Given the description of an element on the screen output the (x, y) to click on. 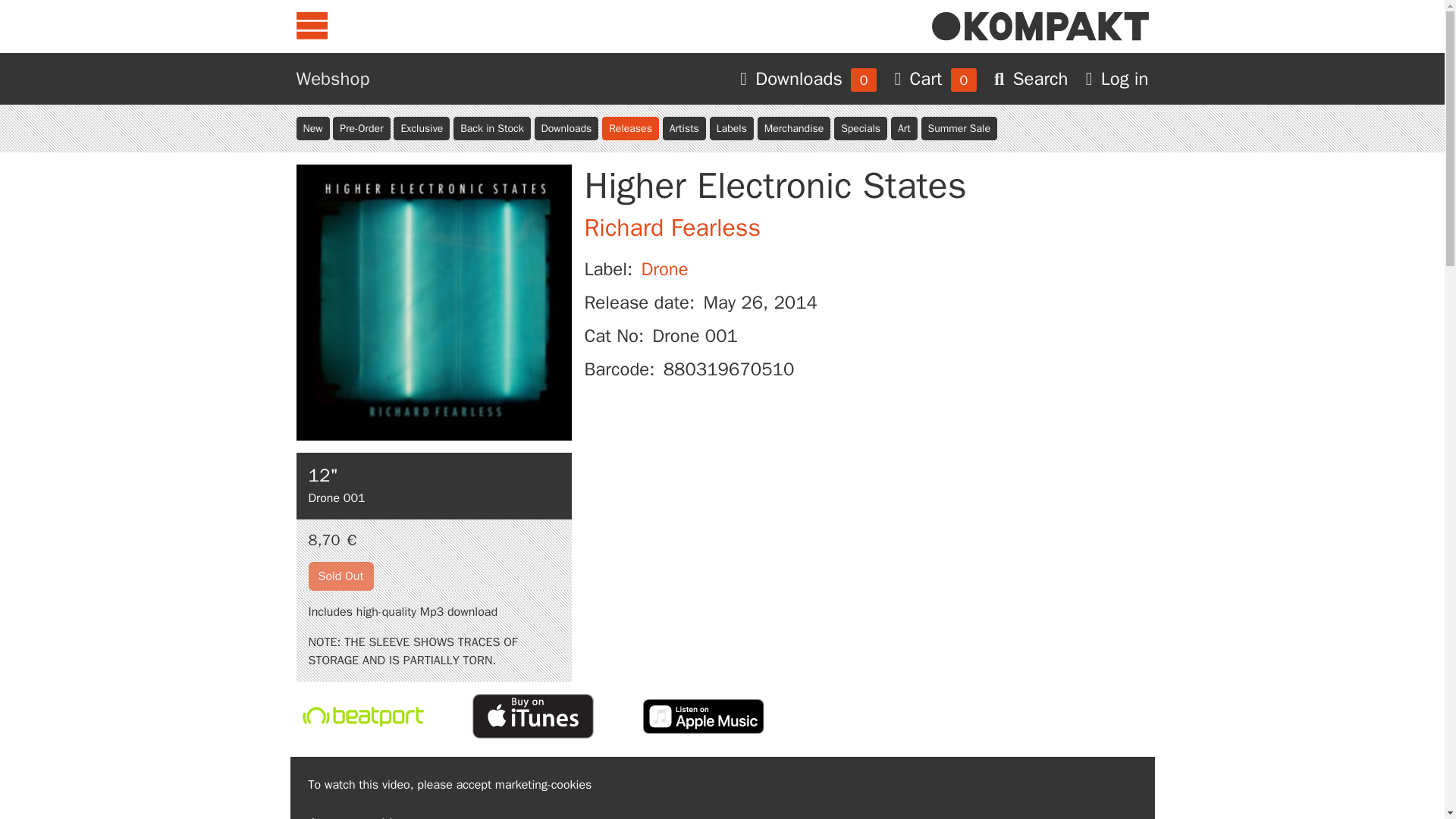
Downloads 0 (810, 78)
Artists (684, 128)
Summer Sale (957, 128)
Back in Stock (491, 128)
Merchandise (794, 128)
Log in (1117, 78)
Art (904, 128)
Accept cookies (357, 812)
Sold Out (339, 575)
Richard Fearless (671, 227)
